Given the description of an element on the screen output the (x, y) to click on. 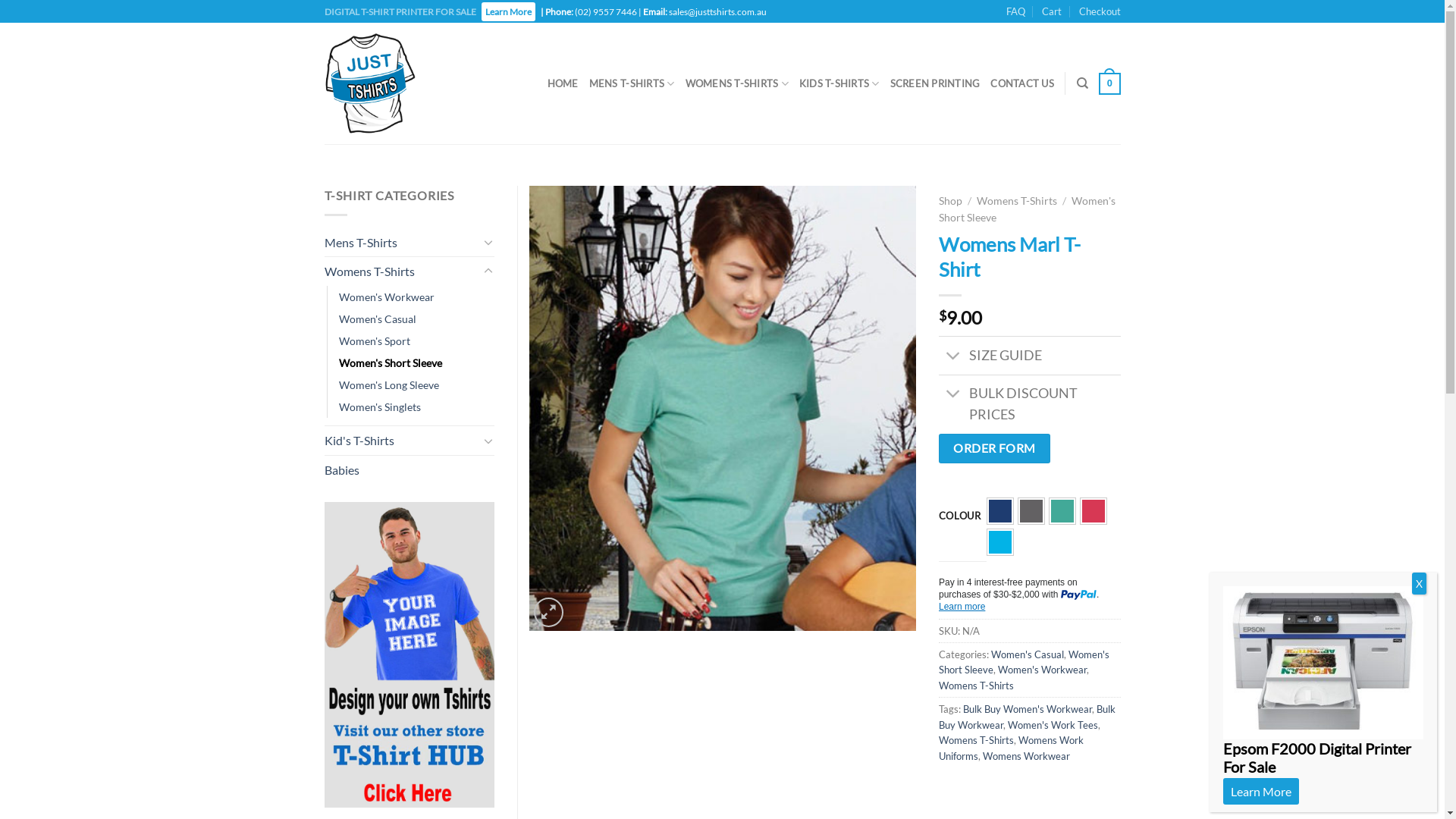
Womens T-Shirts Element type: text (975, 740)
Learn More Element type: text (508, 11)
Women's Casual Element type: text (376, 318)
Kid's T-Shirts Element type: text (401, 440)
Learn More Element type: text (1261, 790)
Red Marl Element type: text (1093, 510)
PayPal Message 1 Element type: hover (1029, 595)
SCREEN PRINTING Element type: text (935, 83)
MENS T-SHIRTS Element type: text (631, 83)
KIDS T-SHIRTS Element type: text (839, 83)
Womens Workwear Element type: text (1026, 755)
Womens T-Shirts Element type: text (401, 271)
Women's Casual Element type: text (1026, 654)
Bulk Buy Workwear Element type: text (1026, 716)
Women's Sport Element type: text (373, 340)
Womens Marl T-Shirt Element type: hover (722, 407)
Green Marl Element type: text (1062, 510)
Women's Short Sleeve Element type: text (1026, 208)
BULK DISCOUNT PRICES Element type: text (1029, 403)
Blue Marl Element type: text (999, 510)
Cart Element type: text (1051, 11)
Charcoal Marle Element type: text (1030, 510)
Sapphire Marl Element type: text (999, 541)
CONTACT US Element type: text (1022, 83)
Mens T-Shirts Element type: text (401, 242)
Womens Work Uniforms Element type: text (1010, 747)
Women's Workwear Element type: text (385, 296)
HOME Element type: text (562, 83)
SIZE GUIDE Element type: text (1029, 354)
Epsom F Element type: hover (1323, 662)
Women's Singlets Element type: text (379, 406)
Babies Element type: text (409, 469)
Womens T-Shirts Element type: text (975, 685)
DIGITAL T-SHIRT PRINTER FOR SALE Element type: text (400, 11)
Women's Short Sleeve Element type: text (389, 362)
Women's Long Sleeve Element type: text (388, 384)
Bulk Buy Women's Workwear Element type: text (1027, 708)
0 Element type: text (1109, 83)
X Element type: text (1419, 583)
Women's Workwear Element type: text (1041, 669)
Women's Short Sleeve Element type: text (1023, 661)
Shop Element type: text (950, 200)
Women's Work Tees Element type: text (1052, 724)
Checkout Element type: text (1099, 11)
WOMENS T-SHIRTS Element type: text (736, 83)
Womens T-Shirts Element type: text (1016, 200)
FAQ Element type: text (1015, 11)
